Given the description of an element on the screen output the (x, y) to click on. 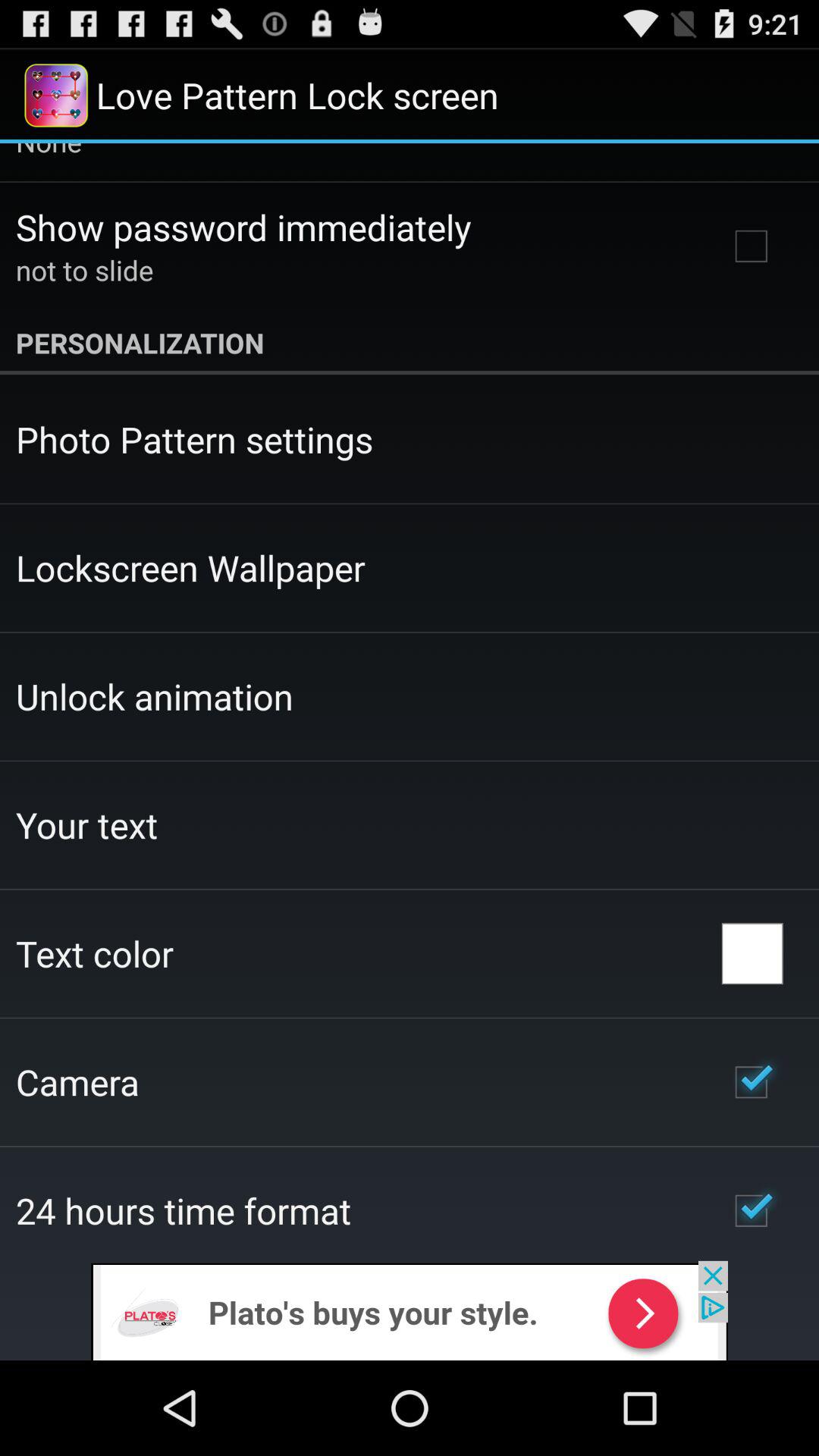
click on advertisement (409, 1310)
